Given the description of an element on the screen output the (x, y) to click on. 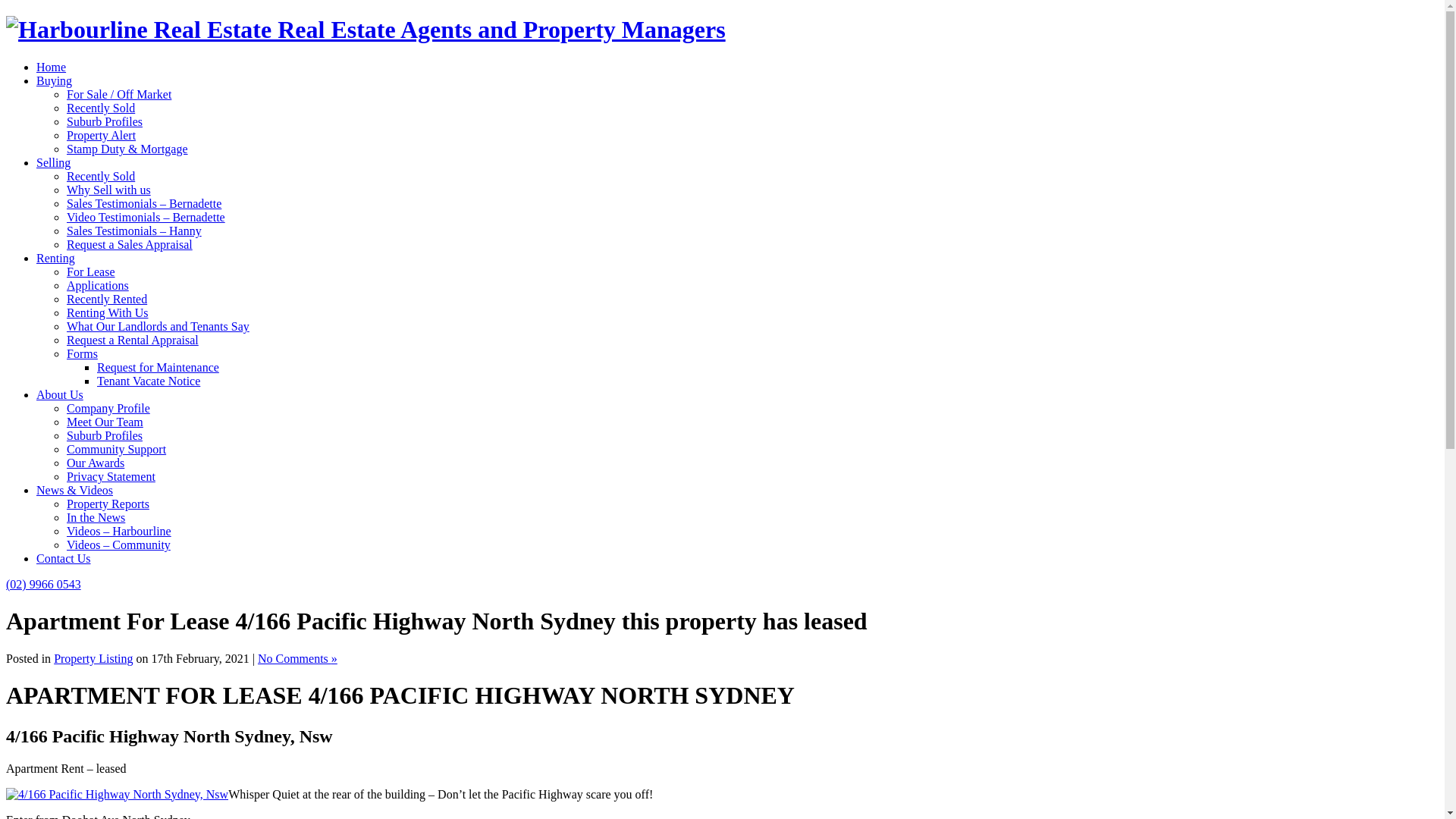
Suburb Profiles Element type: text (104, 121)
Harbourline Real Estate -  Element type: hover (365, 29)
News & Videos Element type: text (74, 489)
Forms Element type: text (81, 353)
Recently Sold Element type: text (100, 175)
Privacy Statement Element type: text (110, 476)
Community Support Element type: text (116, 448)
Our Awards Element type: text (95, 462)
About Us Element type: text (59, 394)
Buying Element type: text (54, 80)
Applications Element type: text (97, 285)
Recently Sold Element type: text (100, 107)
(02) 9966 0543 Element type: text (43, 583)
In the News Element type: text (95, 517)
Company Profile Element type: text (108, 407)
Home Element type: text (50, 66)
Request a Rental Appraisal Element type: text (132, 339)
Suburb Profiles Element type: text (104, 435)
What Our Landlords and Tenants Say Element type: text (157, 326)
4/166 Pacific Highway North Sydney, Nsw Element type: hover (117, 793)
For Lease Element type: text (90, 271)
Meet Our Team Element type: text (104, 421)
For Sale / Off Market Element type: text (118, 93)
Renting Element type: text (55, 257)
Why Sell with us Element type: text (108, 189)
Request a Sales Appraisal Element type: text (129, 244)
Selling Element type: text (53, 162)
Renting With Us Element type: text (107, 312)
Property Reports Element type: text (107, 503)
Tenant Vacate Notice Element type: text (148, 380)
Request for Maintenance Element type: text (158, 366)
Property Alert Element type: text (100, 134)
Contact Us Element type: text (63, 558)
Property Listing Element type: text (92, 658)
Recently Rented Element type: text (106, 298)
Stamp Duty & Mortgage Element type: text (127, 148)
